Given the description of an element on the screen output the (x, y) to click on. 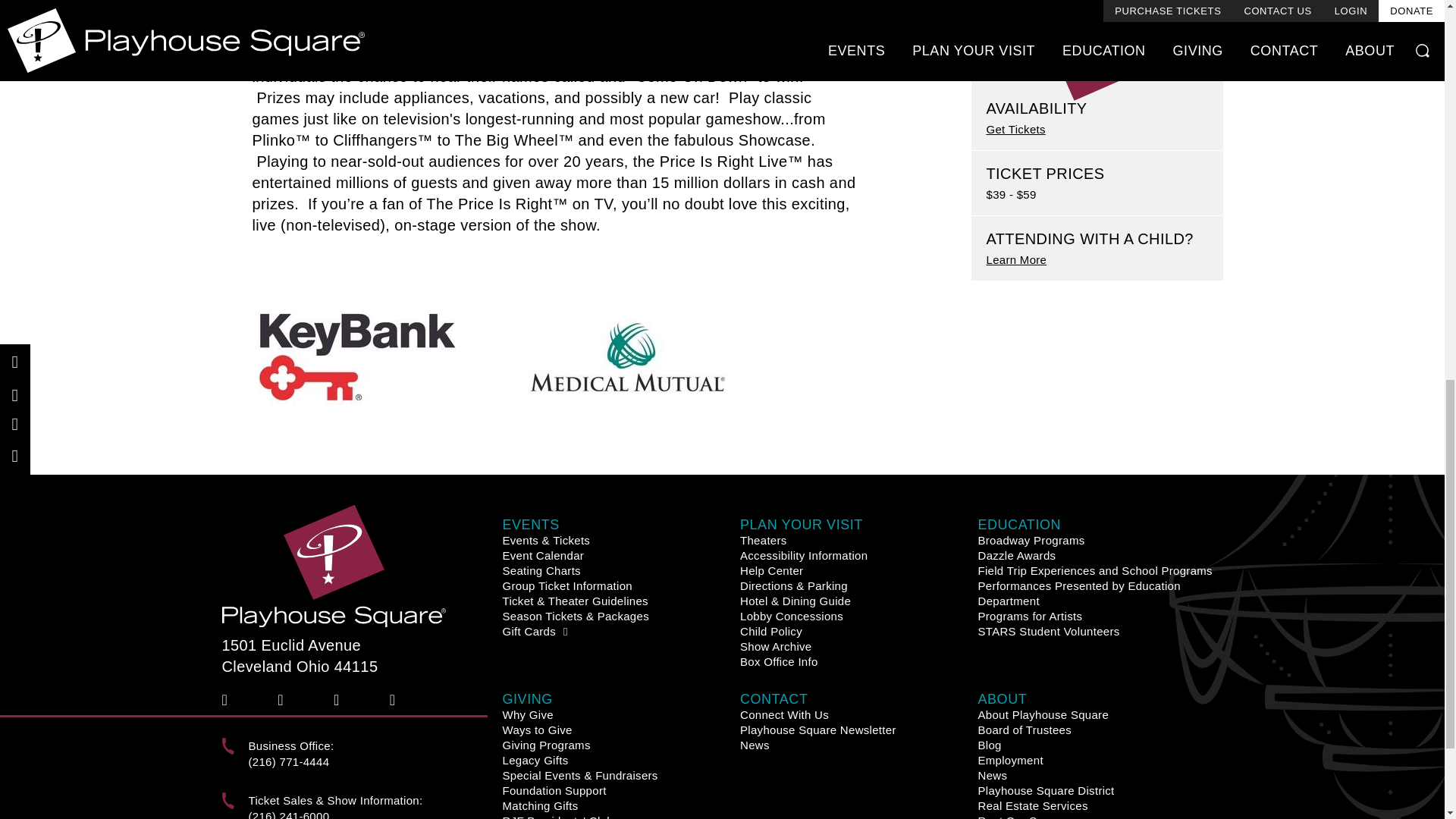
Attending with a child (1015, 68)
Twitter (285, 699)
Directions (361, 657)
Playhouse Square (333, 566)
